Given the description of an element on the screen output the (x, y) to click on. 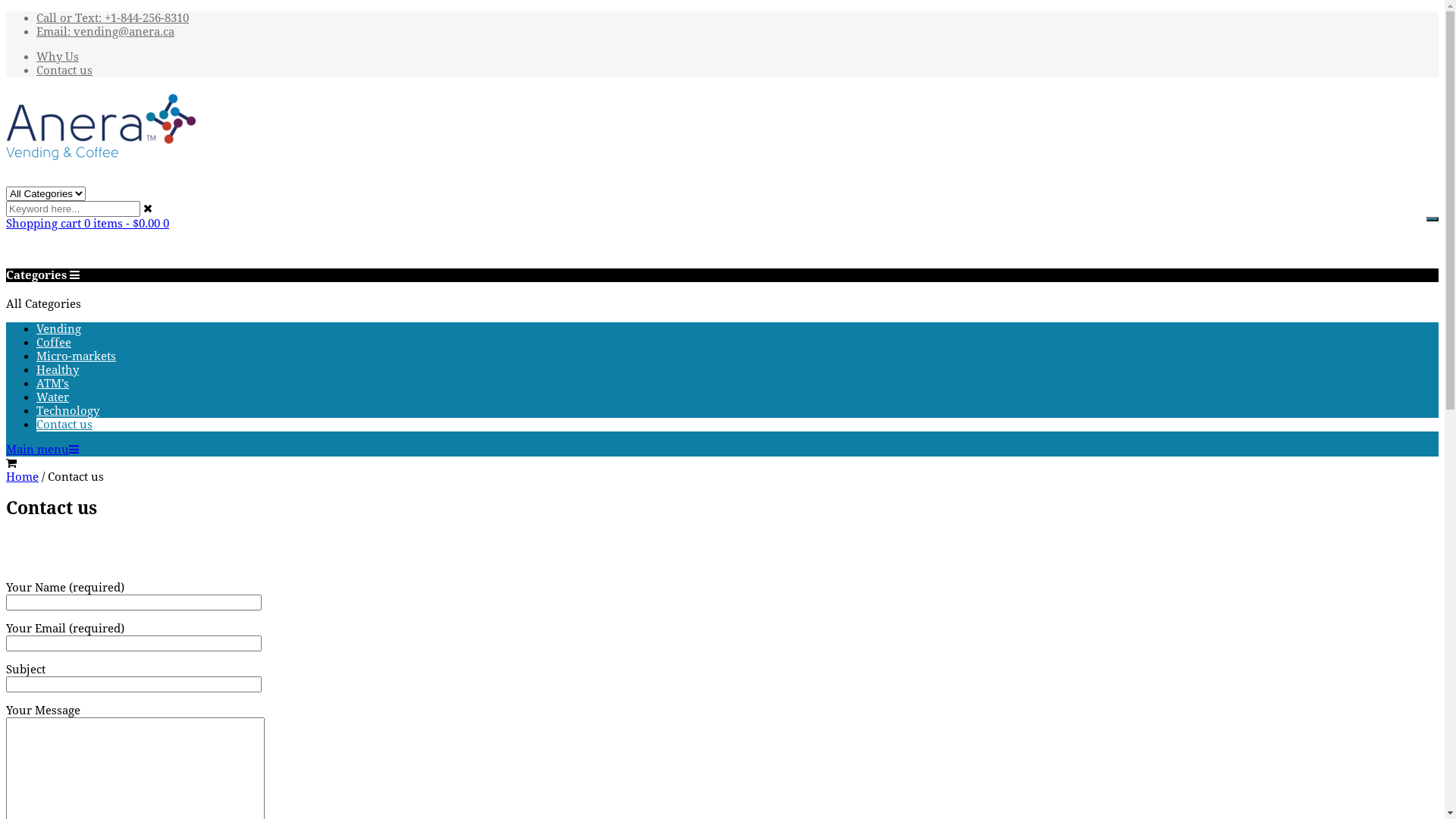
Healthy Element type: text (57, 369)
Main menu Element type: text (42, 449)
Home Element type: text (22, 476)
Contact us Element type: text (64, 424)
Why Us Element type: text (57, 56)
Technology Element type: text (67, 410)
Email: vending@anera.ca Element type: text (105, 31)
Coffee Element type: text (53, 342)
Micro-markets Element type: text (76, 356)
Vending Element type: text (58, 328)
Water Element type: text (52, 397)
Shopping cart 0 items - $0.00 0 Element type: text (87, 223)
Call or Text: +1-844-256-8310 Element type: text (112, 18)
Contact us Element type: text (64, 70)
